Given the description of an element on the screen output the (x, y) to click on. 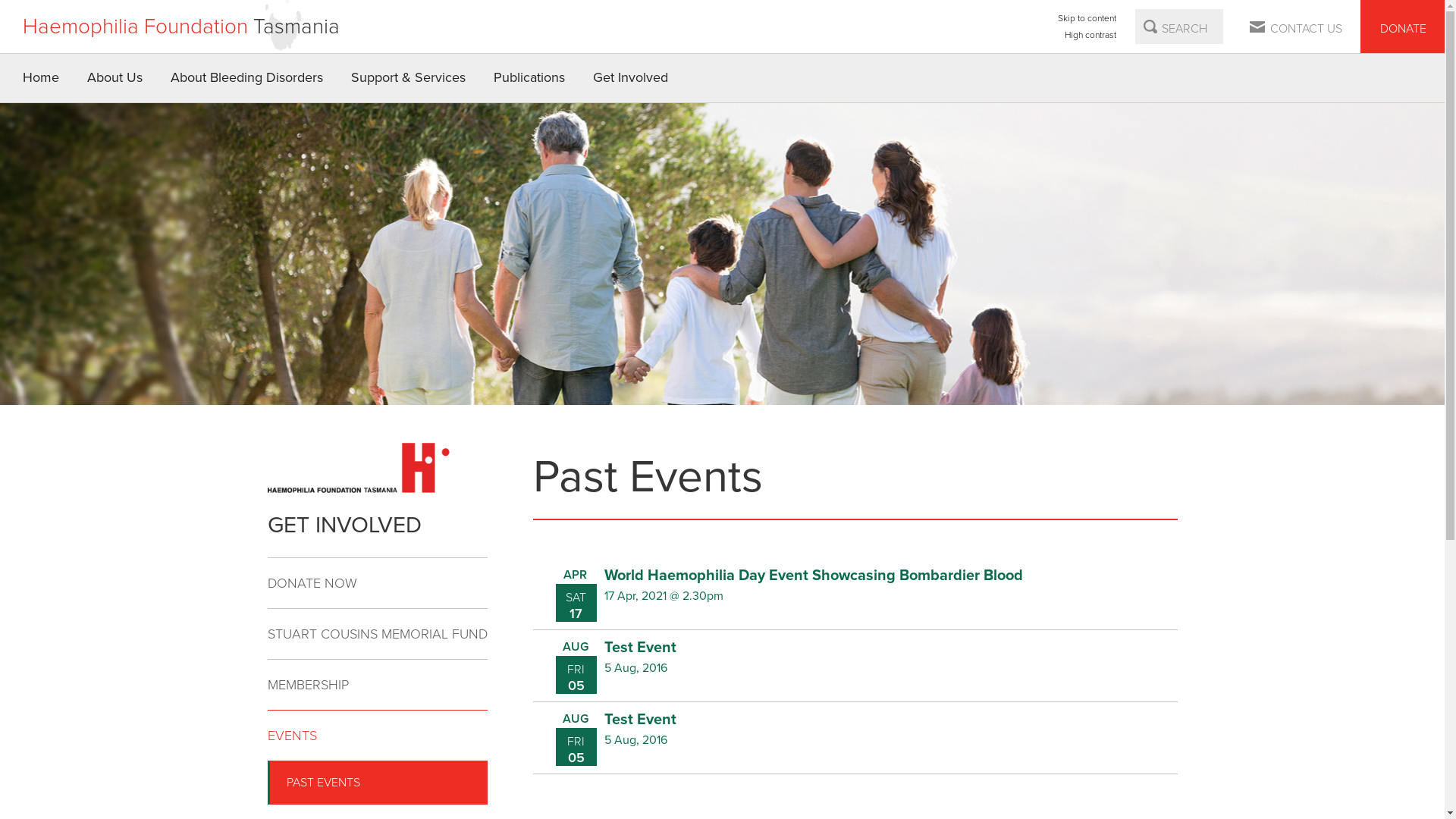
Skip to content Element type: text (1086, 17)
Test Event Element type: text (639, 647)
About Us Element type: text (114, 77)
Search Element type: text (1150, 26)
DONATE NOW Element type: text (376, 583)
Home Element type: text (41, 77)
MEMBERSHIP Element type: text (376, 684)
High contrast Element type: text (1086, 34)
DONATE Element type: text (1402, 26)
STUART COUSINS MEMORIAL FUND Element type: text (376, 633)
PAST EVENTS Element type: text (379, 782)
World Haemophilia Day Event Showcasing Bombardier Blood Element type: text (812, 575)
About Bleeding Disorders Element type: text (246, 77)
Support & Services Element type: text (408, 77)
Get Involved Element type: text (630, 77)
EVENTS Element type: text (376, 735)
CONTACT US Element type: text (1296, 26)
Publications Element type: text (529, 77)
Test Event Element type: text (639, 719)
